Given the description of an element on the screen output the (x, y) to click on. 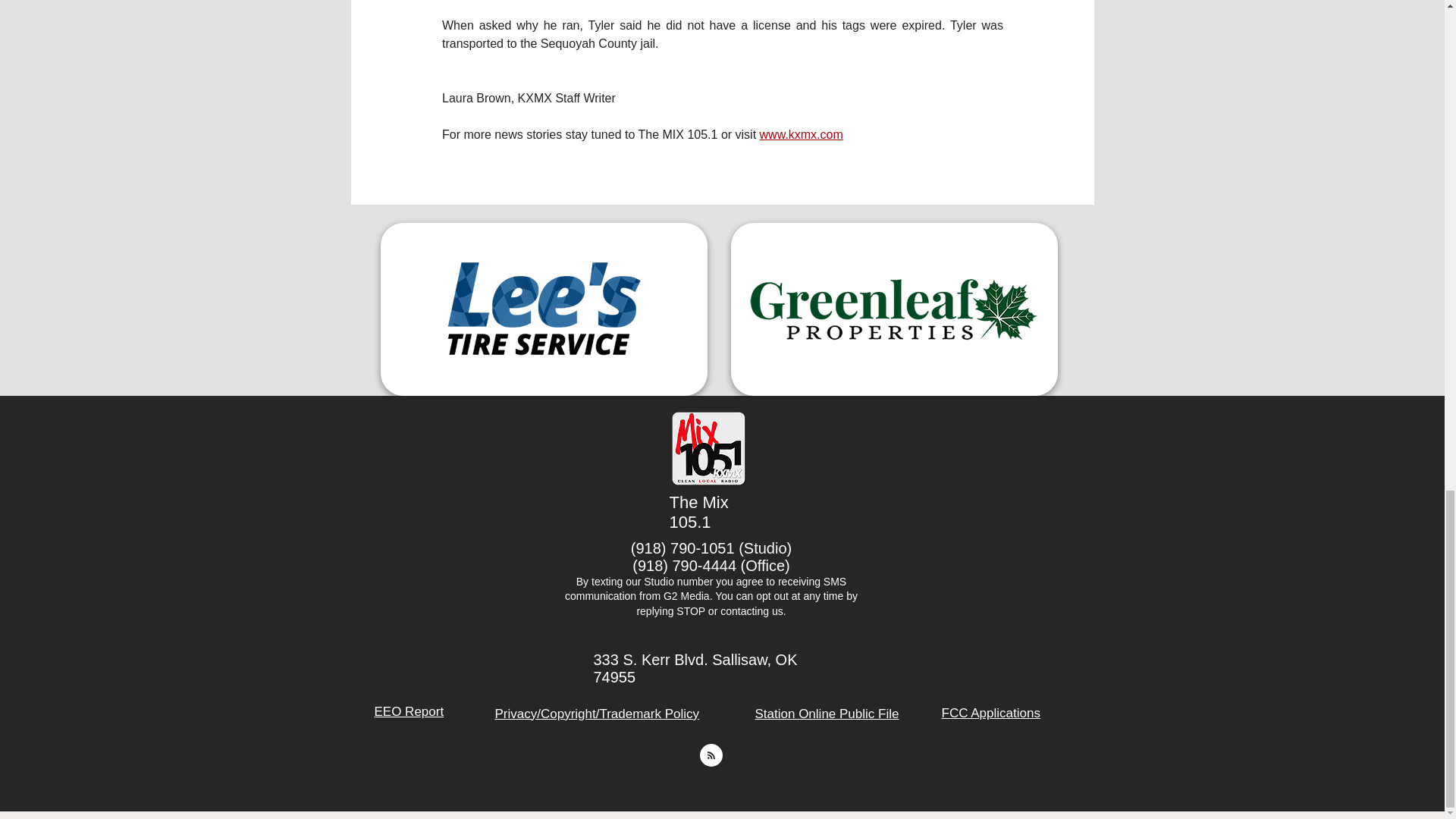
www.kxmx.com (800, 133)
Station Online Public File (827, 713)
EEO Report (409, 711)
FCC Applications (991, 712)
333 S. Kerr Blvd. Sallisaw, OK 74955 (694, 668)
